Given the description of an element on the screen output the (x, y) to click on. 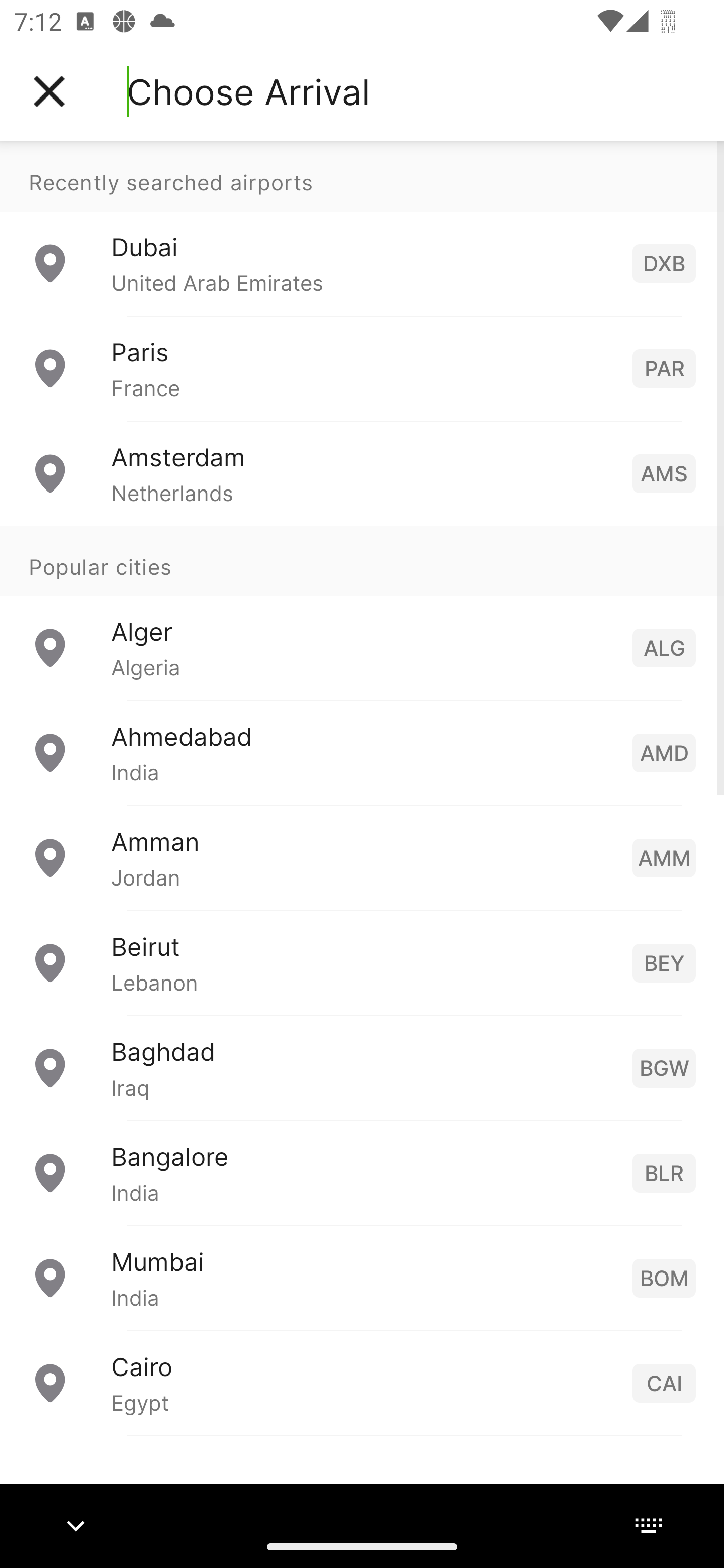
Choose Arrival (247, 91)
Recently searched airports (362, 176)
Paris France PAR (362, 367)
Amsterdam Netherlands AMS (362, 472)
Popular cities Alger Algeria ALG (362, 612)
Popular cities (362, 560)
Ahmedabad India AMD (362, 751)
Amman Jordan AMM (362, 856)
Beirut Lebanon BEY (362, 961)
Baghdad Iraq BGW (362, 1066)
Bangalore India BLR (362, 1171)
Mumbai India BOM (362, 1276)
Cairo Egypt CAI (362, 1381)
